Given the description of an element on the screen output the (x, y) to click on. 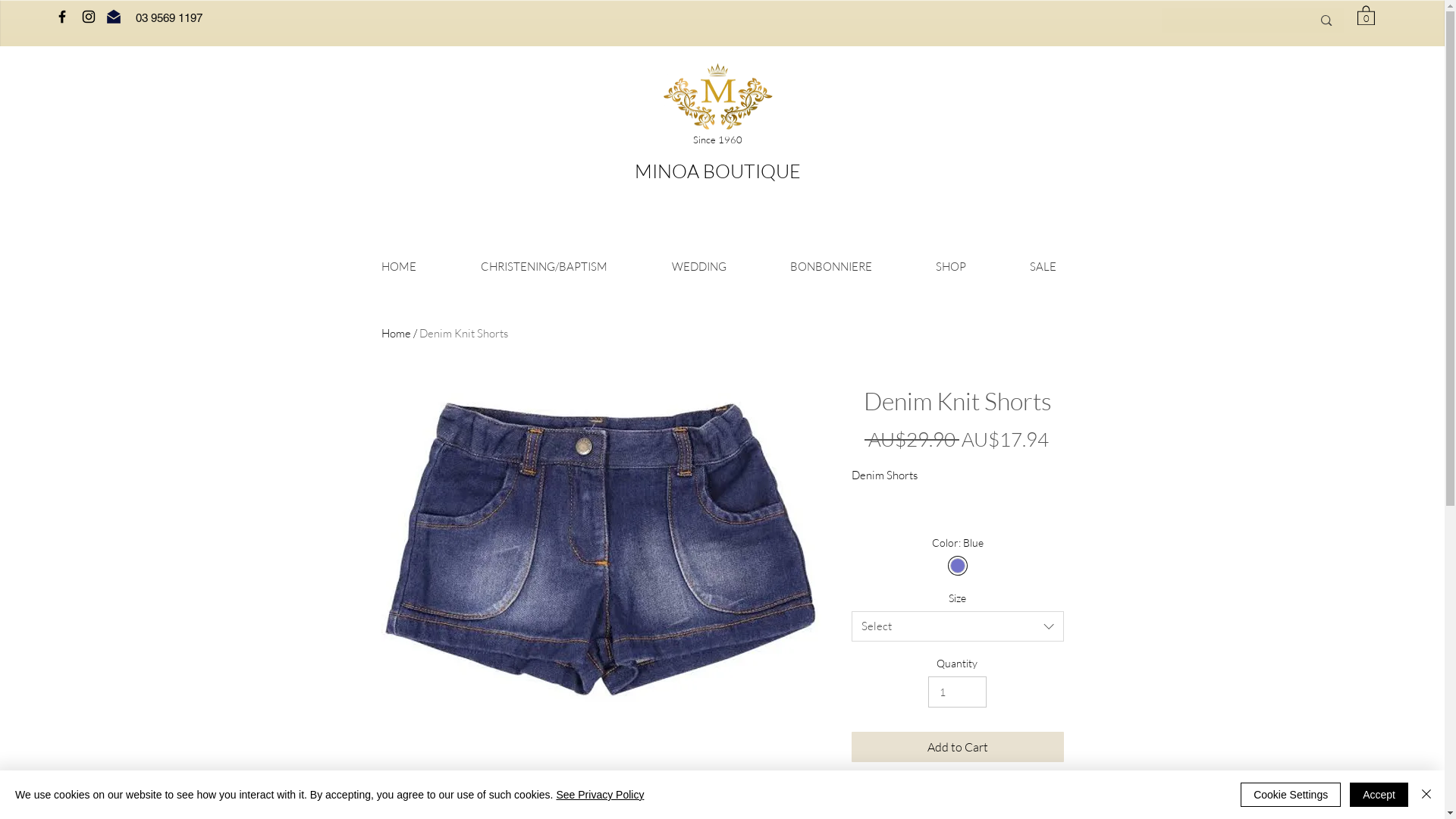
Home Element type: text (395, 333)
Add to Cart Element type: text (956, 746)
See Privacy Policy Element type: text (599, 794)
Select Element type: text (956, 626)
HOME Element type: text (398, 266)
0 Element type: text (1365, 14)
BONBONNIERE Element type: text (830, 266)
Denim Knit Shorts Element type: text (462, 333)
Since 1960 Element type: text (717, 140)
SHOP Element type: text (950, 266)
Cookie Settings Element type: text (1290, 794)
Accept Element type: text (1378, 794)
MINOA BOUTIQUE Element type: text (717, 173)
03 9569 1197 Element type: text (167, 18)
SALE Element type: text (1042, 266)
